Given the description of an element on the screen output the (x, y) to click on. 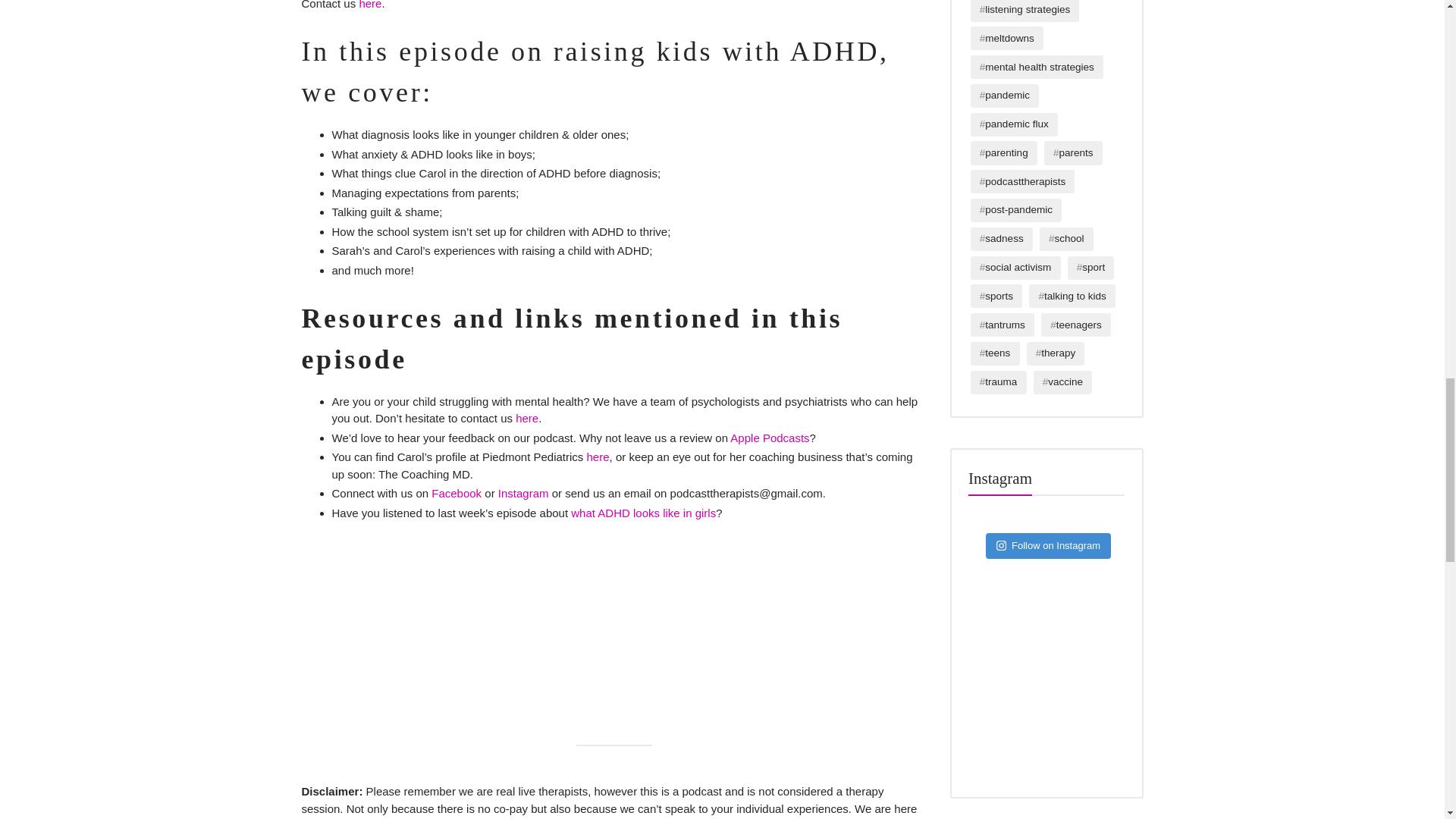
here (598, 456)
Apple Podcasts (769, 437)
what ADHD looks like in girls (643, 512)
Facebook (455, 492)
here (526, 418)
Instagram (522, 492)
Embed Player (614, 613)
here (369, 4)
